Given the description of an element on the screen output the (x, y) to click on. 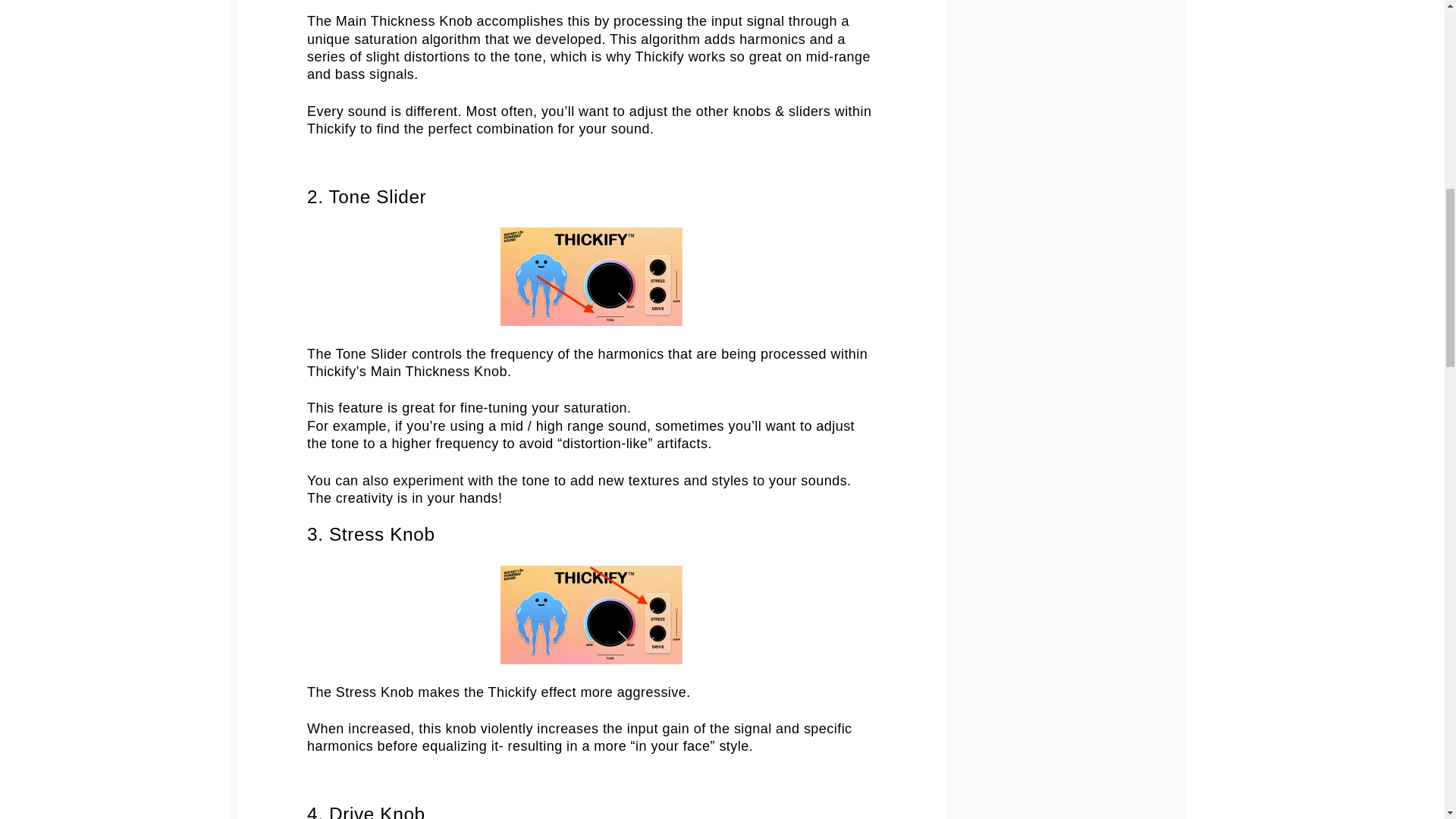
MENU (162, 46)
